Given the description of an element on the screen output the (x, y) to click on. 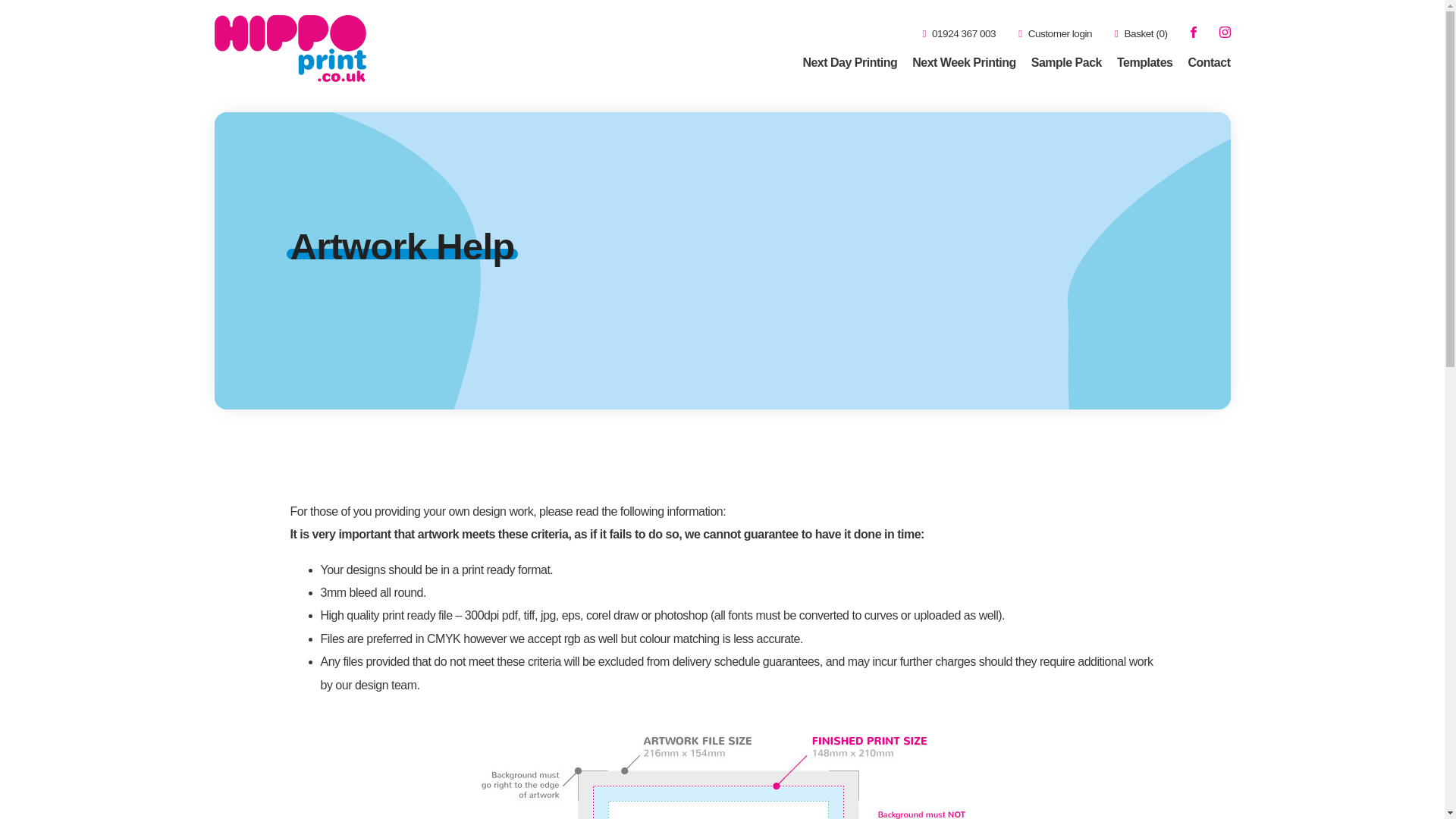
01924 367 003 (958, 33)
Customer login (1054, 33)
Next Week Printing (964, 62)
Sample Pack (1066, 62)
Next Day Printing (849, 62)
